Given the description of an element on the screen output the (x, y) to click on. 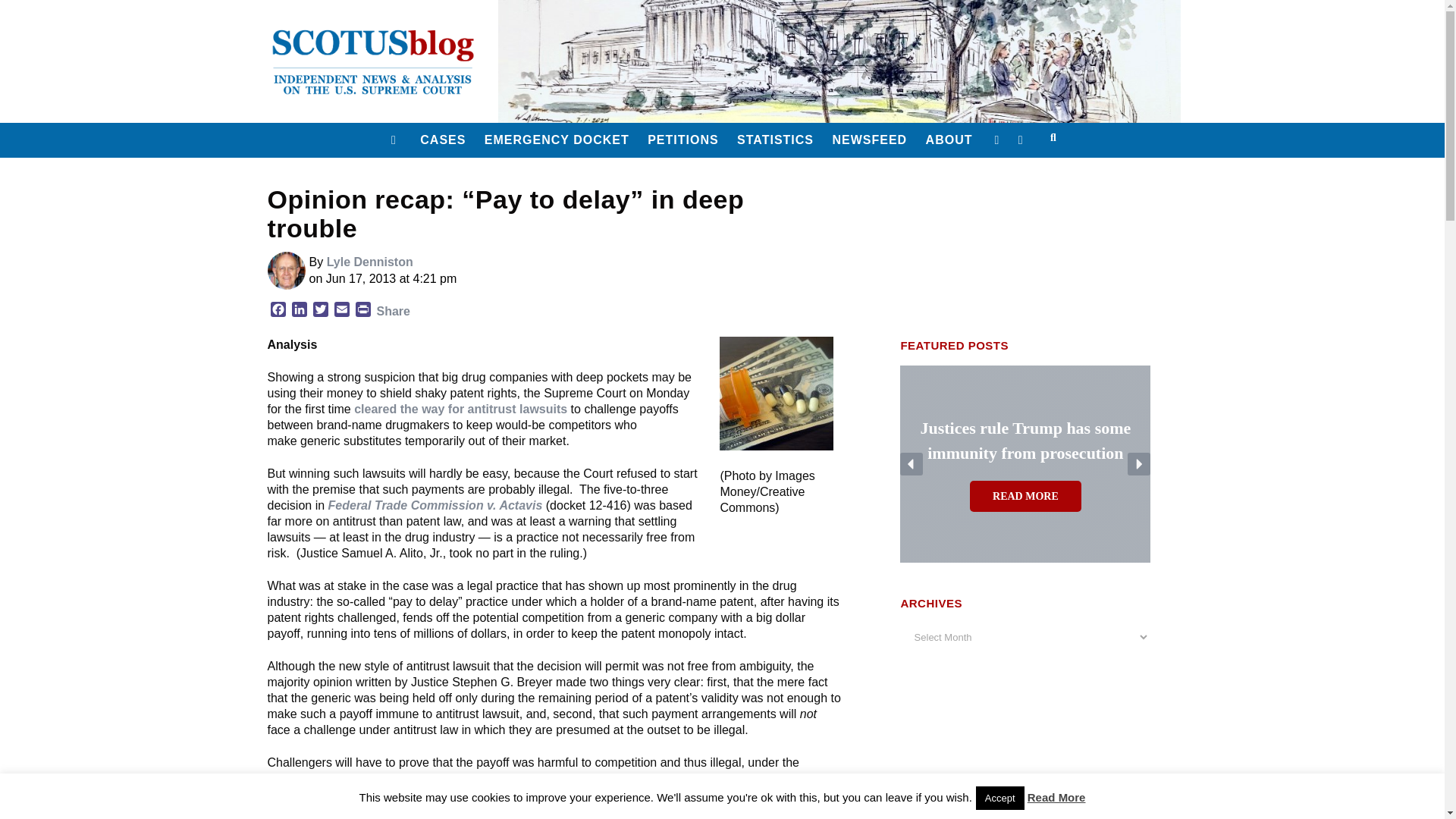
LinkedIn (298, 311)
Email (341, 311)
Twitter (319, 311)
Facebook (277, 311)
ABOUT (948, 140)
NEWSFEED (869, 140)
PETITIONS (682, 140)
EMERGENCY DOCKET (557, 140)
CASES (442, 140)
STATISTICS (775, 140)
PrintFriendly (362, 311)
